Given the description of an element on the screen output the (x, y) to click on. 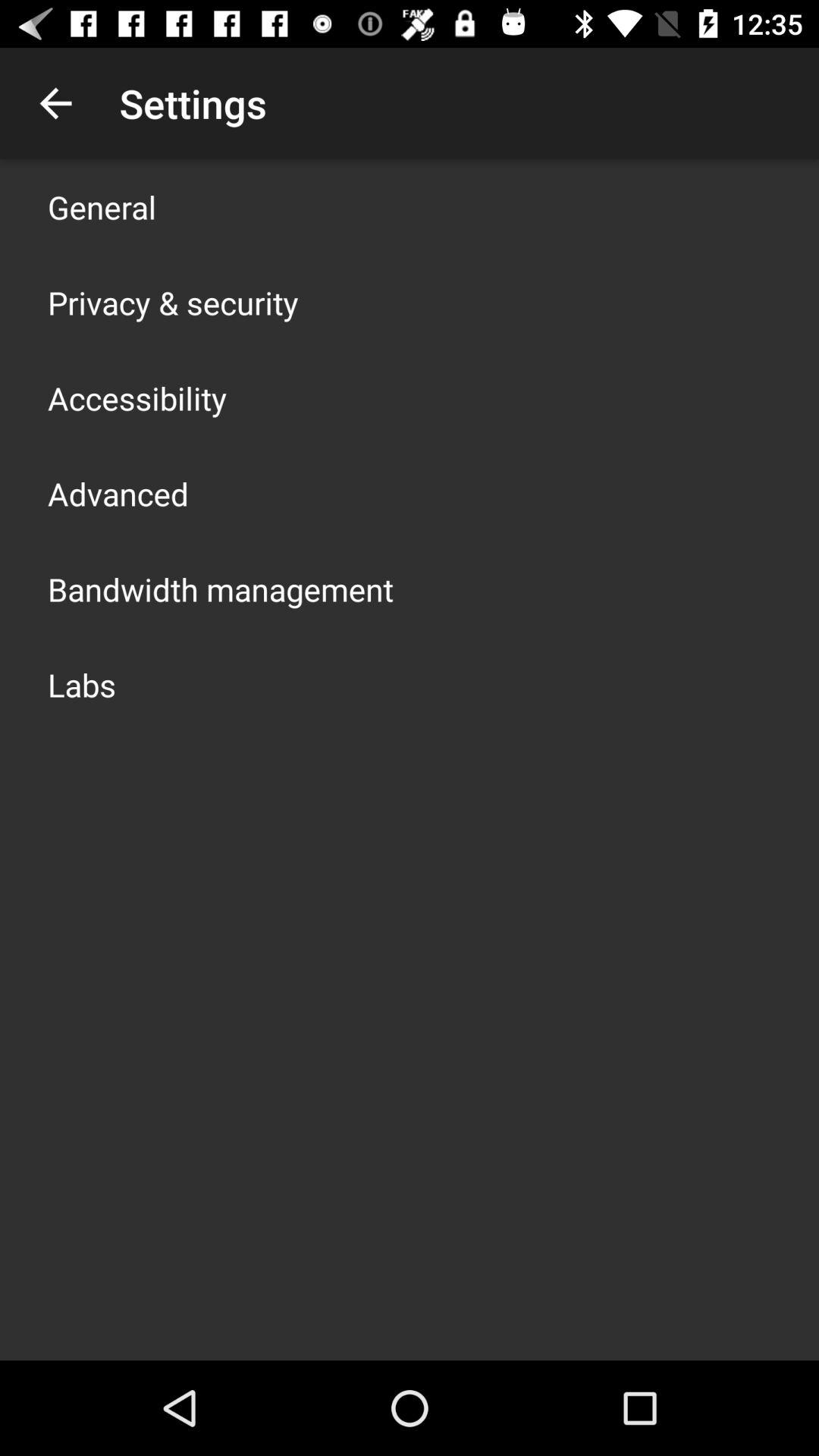
turn on the app above general (55, 103)
